Given the description of an element on the screen output the (x, y) to click on. 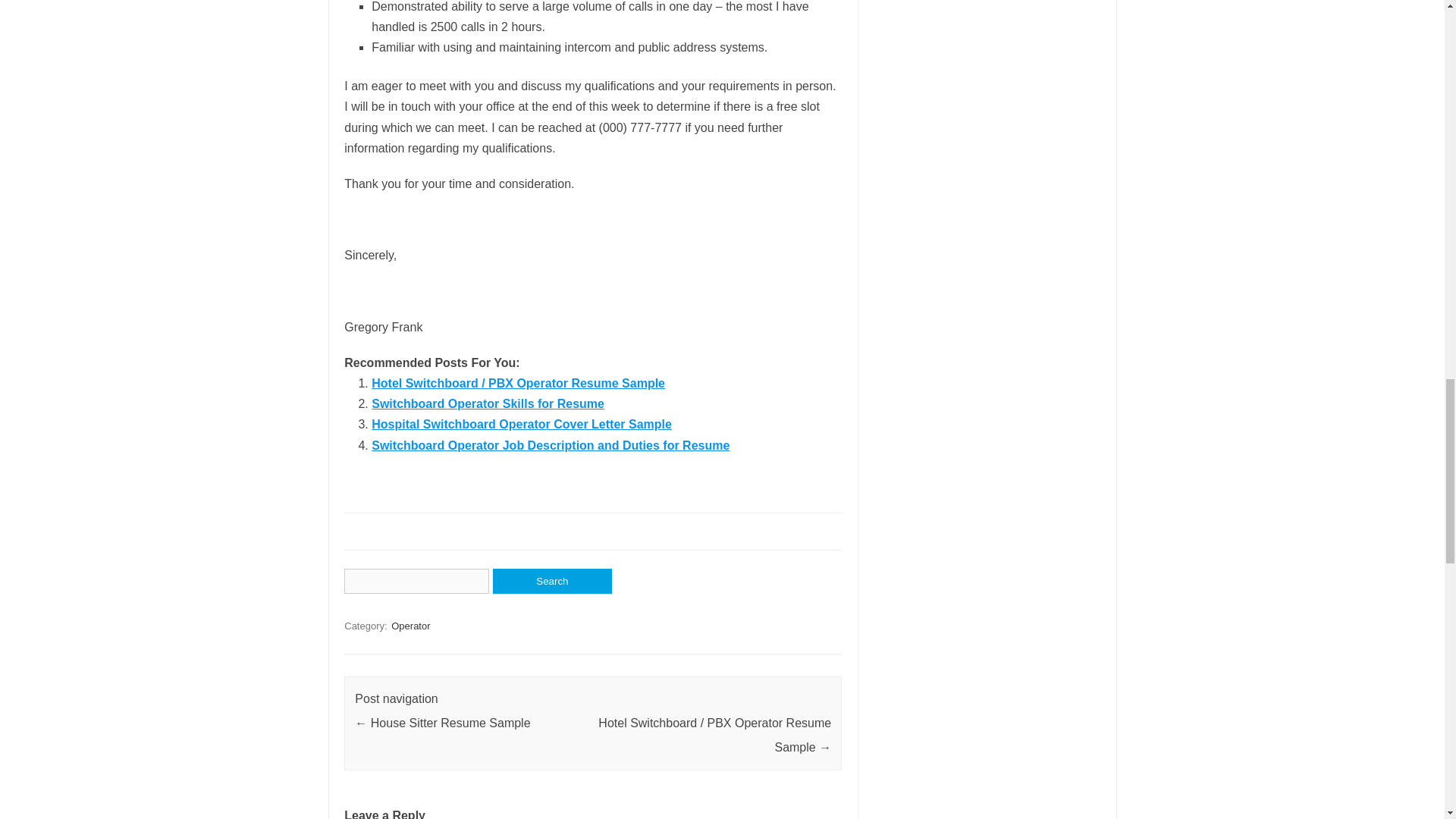
Hospital Switchboard Operator Cover Letter Sample (521, 423)
Search (552, 580)
Switchboard Operator Skills for Resume (487, 403)
Switchboard Operator Skills for Resume (487, 403)
Switchboard Operator Job Description and Duties for Resume (550, 445)
Operator (410, 626)
Search (552, 580)
Hospital Switchboard Operator Cover Letter Sample (521, 423)
Switchboard Operator Job Description and Duties for Resume (550, 445)
